Given the description of an element on the screen output the (x, y) to click on. 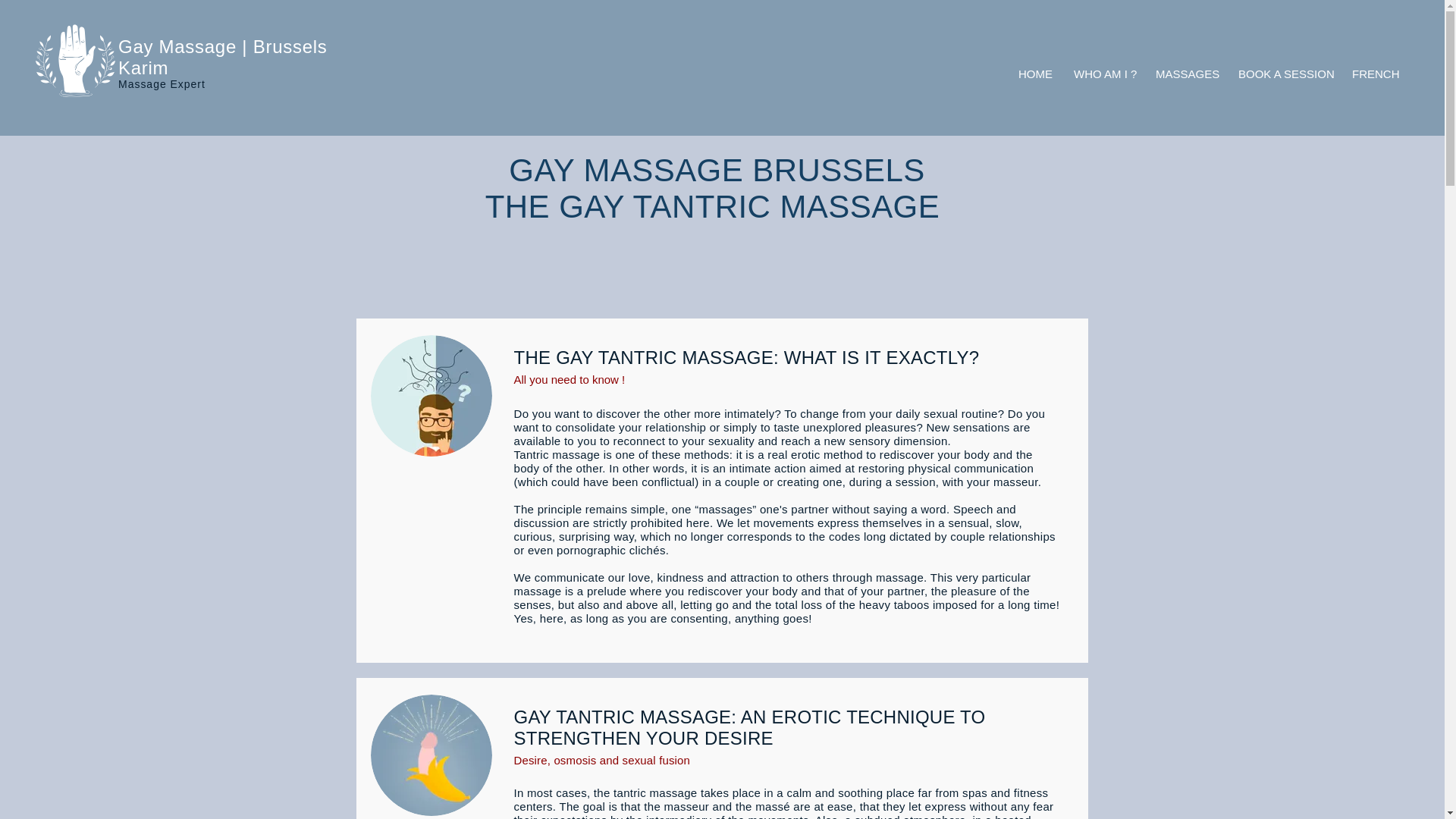
BOOK A SESSION (1283, 74)
Massage Expert (161, 83)
FRENCH (1373, 74)
WHO AM I ? (1103, 74)
Tantric Gay Massage Brussels (430, 754)
HOME (1034, 74)
Tantric Gay Massage Brussels (430, 395)
